Given the description of an element on the screen output the (x, y) to click on. 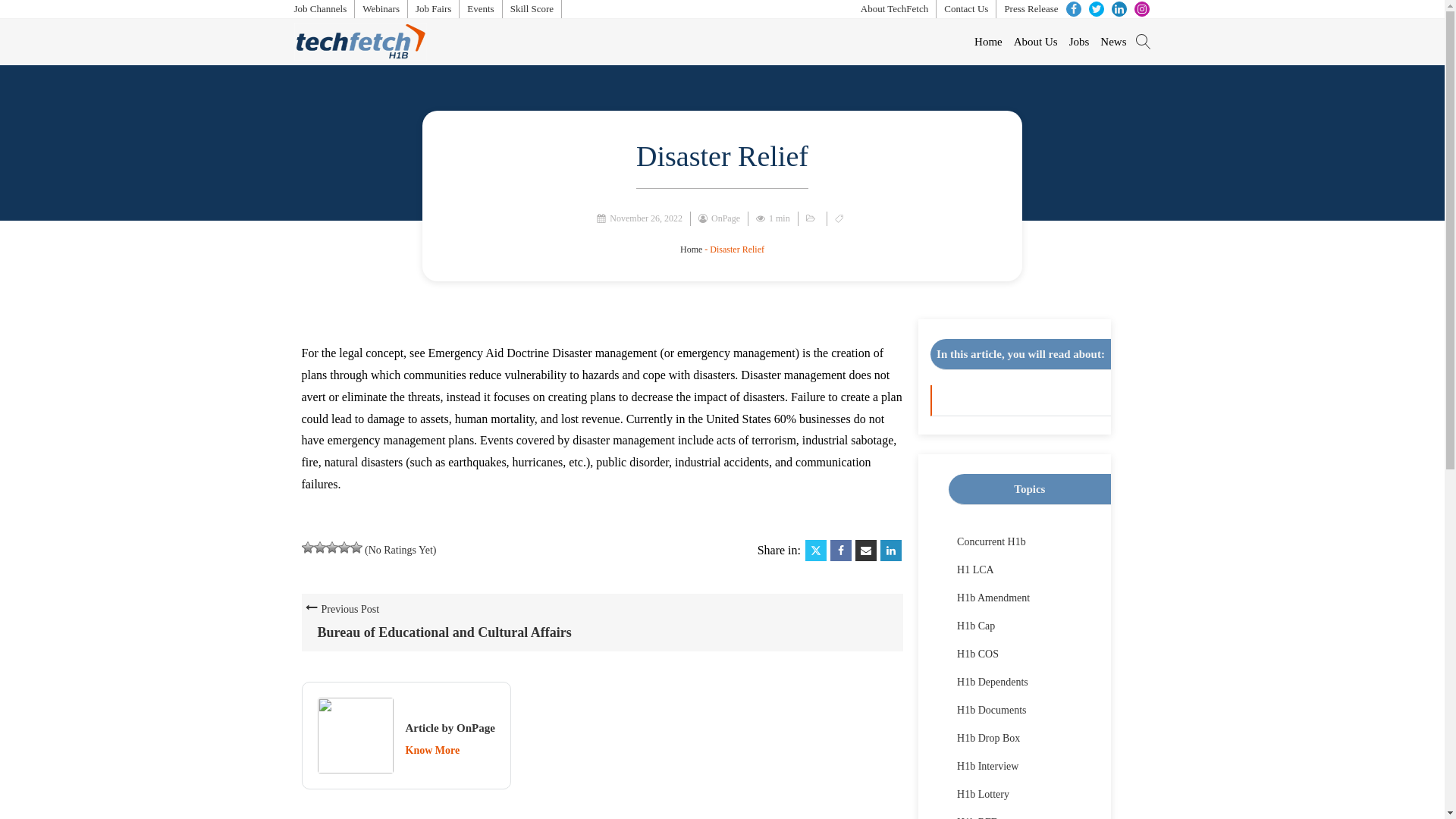
OnPage (729, 218)
H1b Documents (991, 709)
H1b COS (977, 654)
H1b Interview (986, 766)
2 Stars (320, 547)
H1b Amendment (992, 597)
Concurrent H1b (991, 541)
Home (982, 41)
4 Stars (343, 547)
H1b Lottery (982, 794)
